Given the description of an element on the screen output the (x, y) to click on. 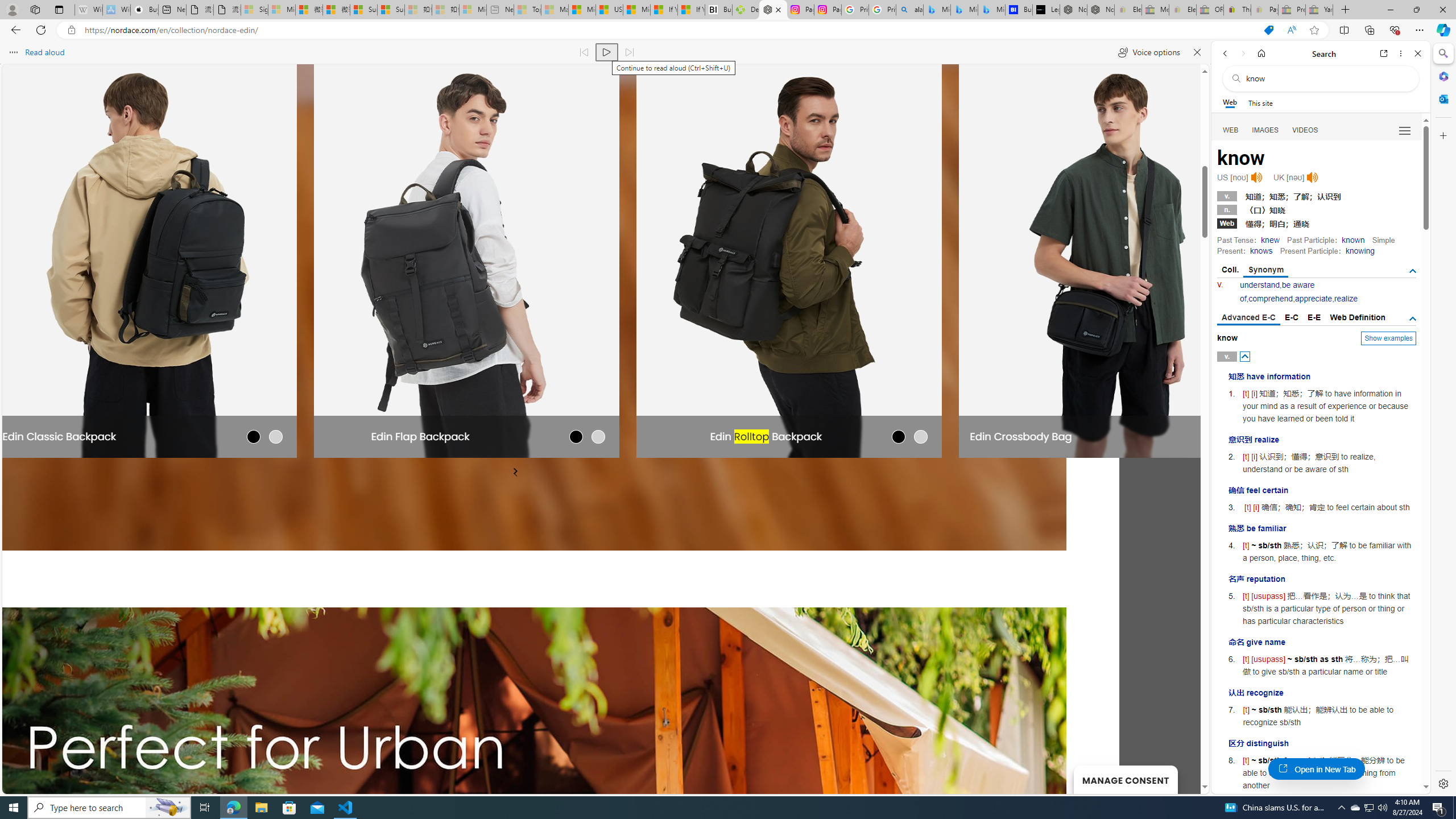
appreciate (1313, 298)
Click to listen (1312, 177)
Microsoft Start (636, 9)
Previous (515, 472)
Buy iPad - Apple (144, 9)
Read next paragraph (628, 52)
IMAGES (1265, 130)
Address and search bar (669, 29)
Descarga Driver Updater (746, 9)
